Given the description of an element on the screen output the (x, y) to click on. 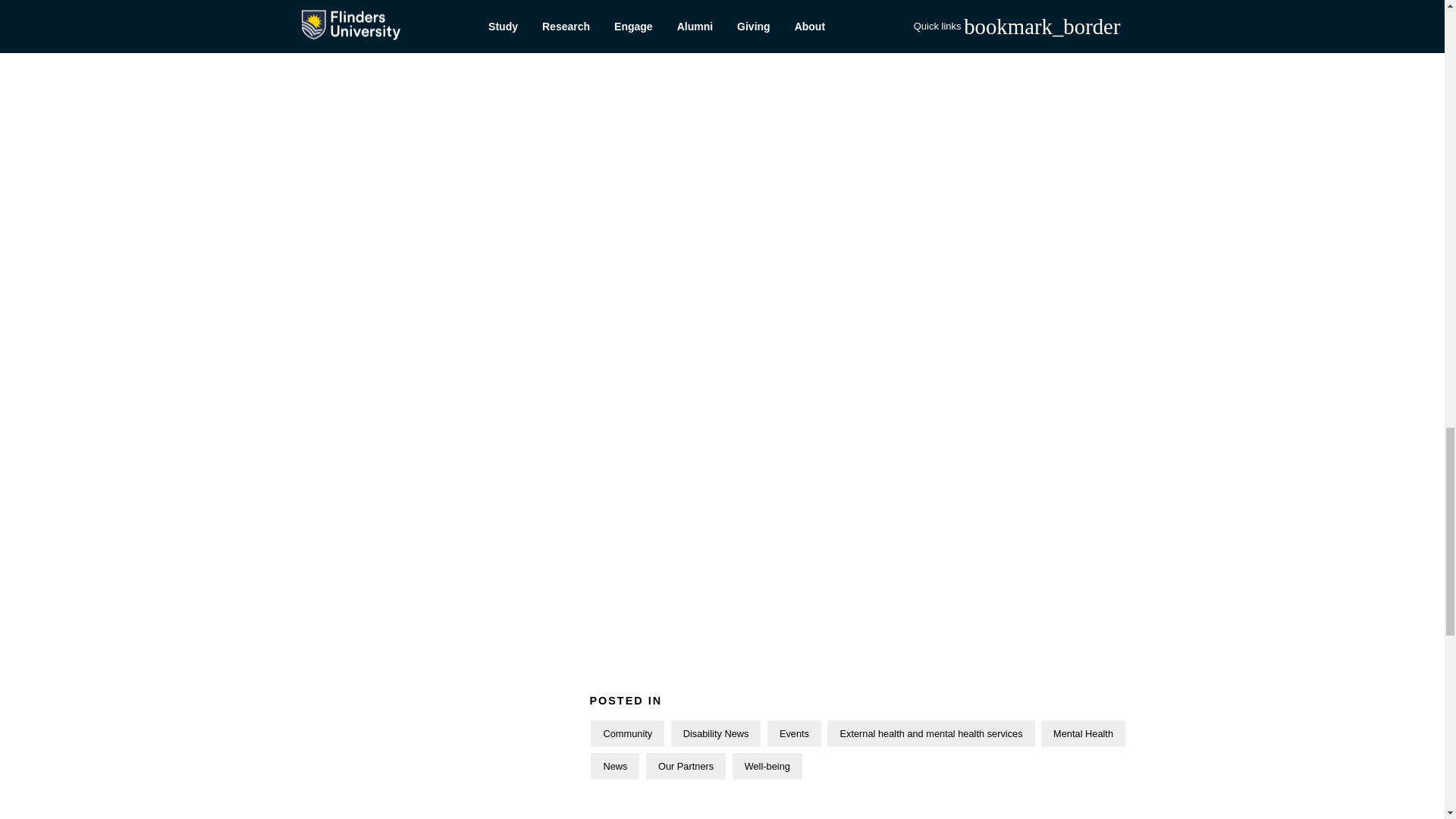
Our Partners (685, 765)
Disability News (716, 733)
Well-being (767, 765)
Events (794, 733)
News (615, 765)
Community (627, 733)
Mental Health (1083, 733)
External health and mental health services (930, 733)
